Given the description of an element on the screen output the (x, y) to click on. 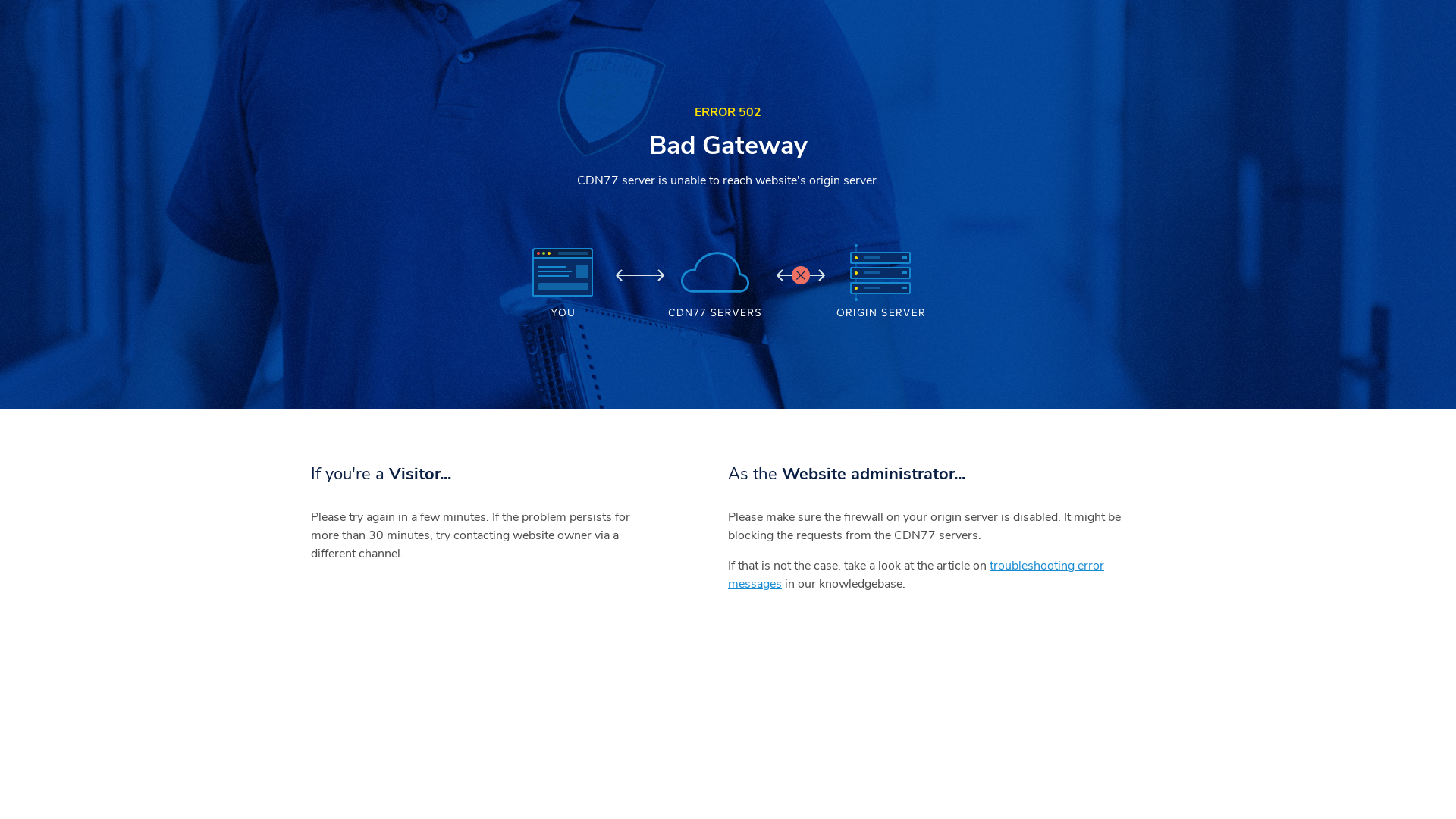
troubleshooting error messages Element type: text (916, 574)
